Given the description of an element on the screen output the (x, y) to click on. 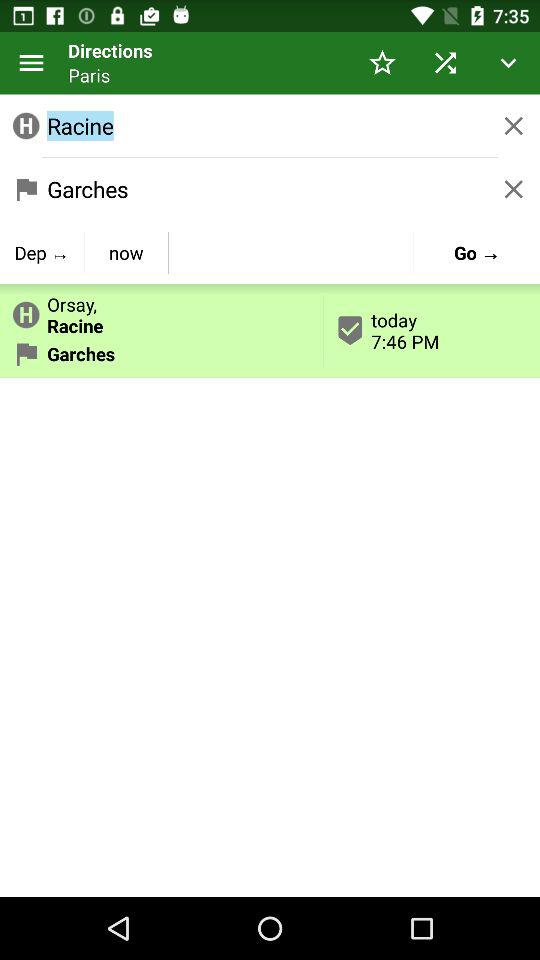
launch the button to the left of today 7 46 icon (126, 252)
